Given the description of an element on the screen output the (x, y) to click on. 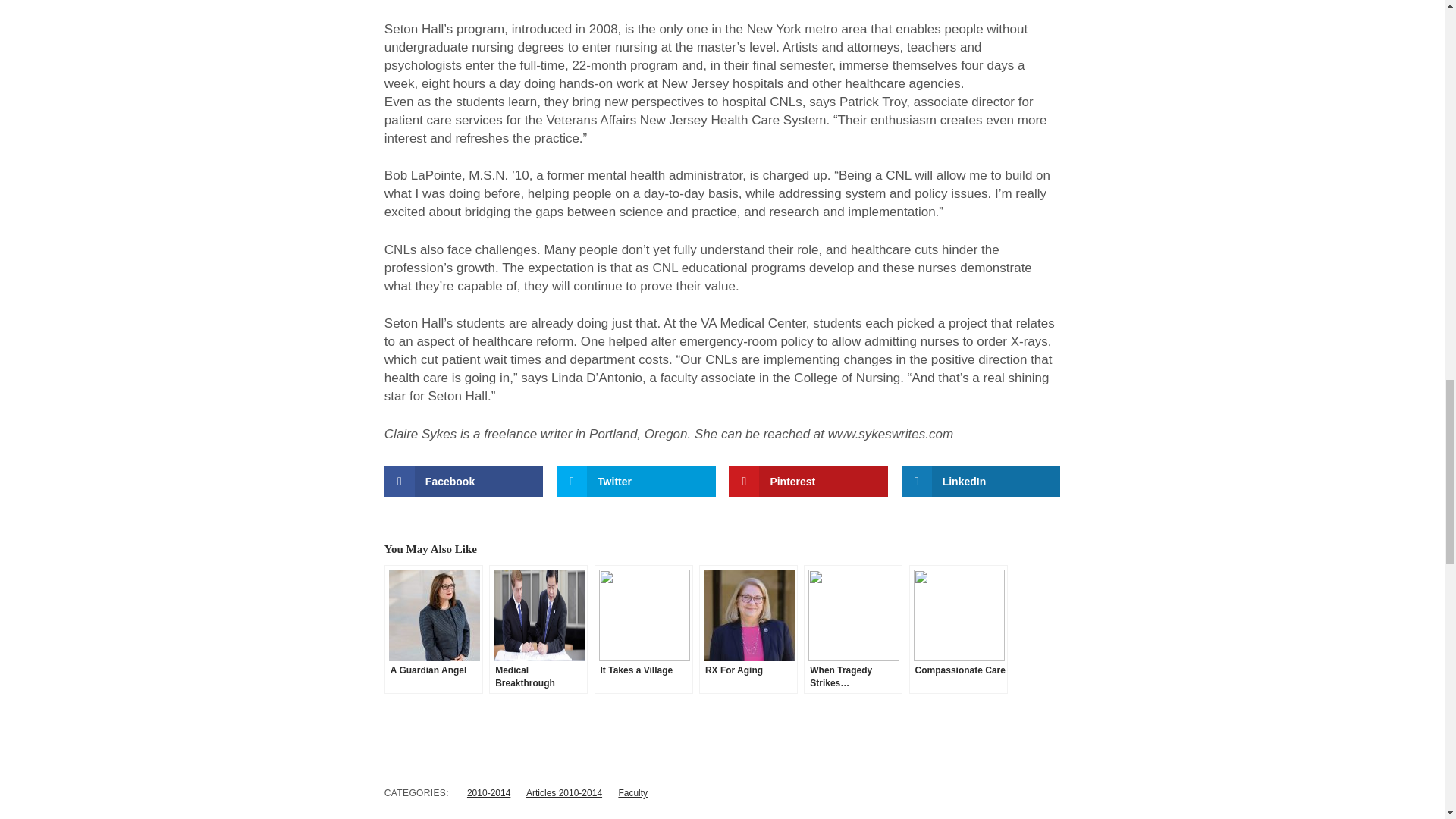
View all posts in 2010-2014 (489, 792)
View all posts in Faculty (632, 792)
View all posts in Articles 2010-2014 (563, 792)
